Given the description of an element on the screen output the (x, y) to click on. 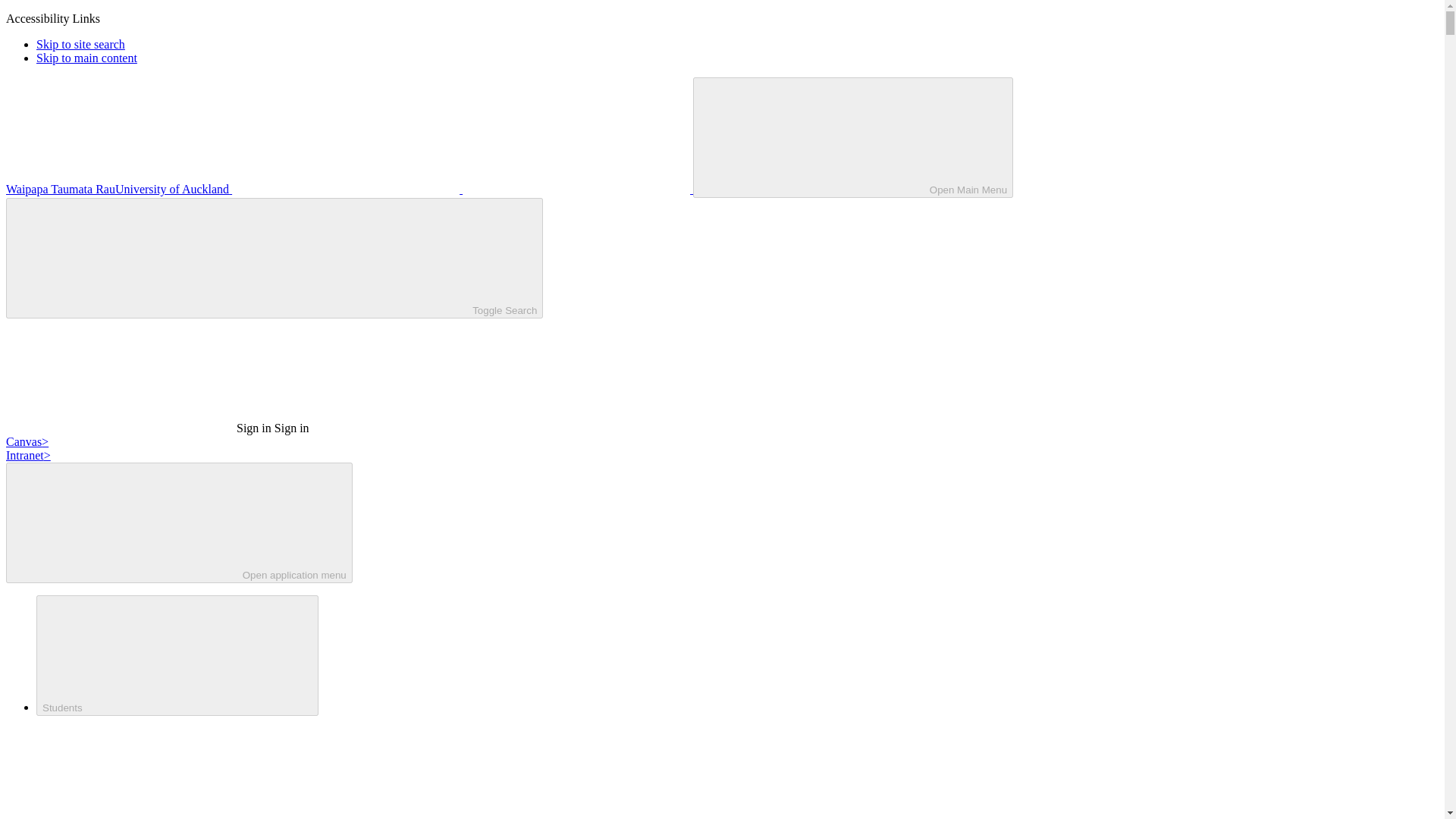
Waipapa Taumata RauUniversity of Auckland (349, 188)
Skip to main content (86, 57)
Toggle Search (274, 258)
Open Main Menu (853, 137)
Students (177, 655)
Open application menu (178, 522)
Skip to site search (80, 43)
